Given the description of an element on the screen output the (x, y) to click on. 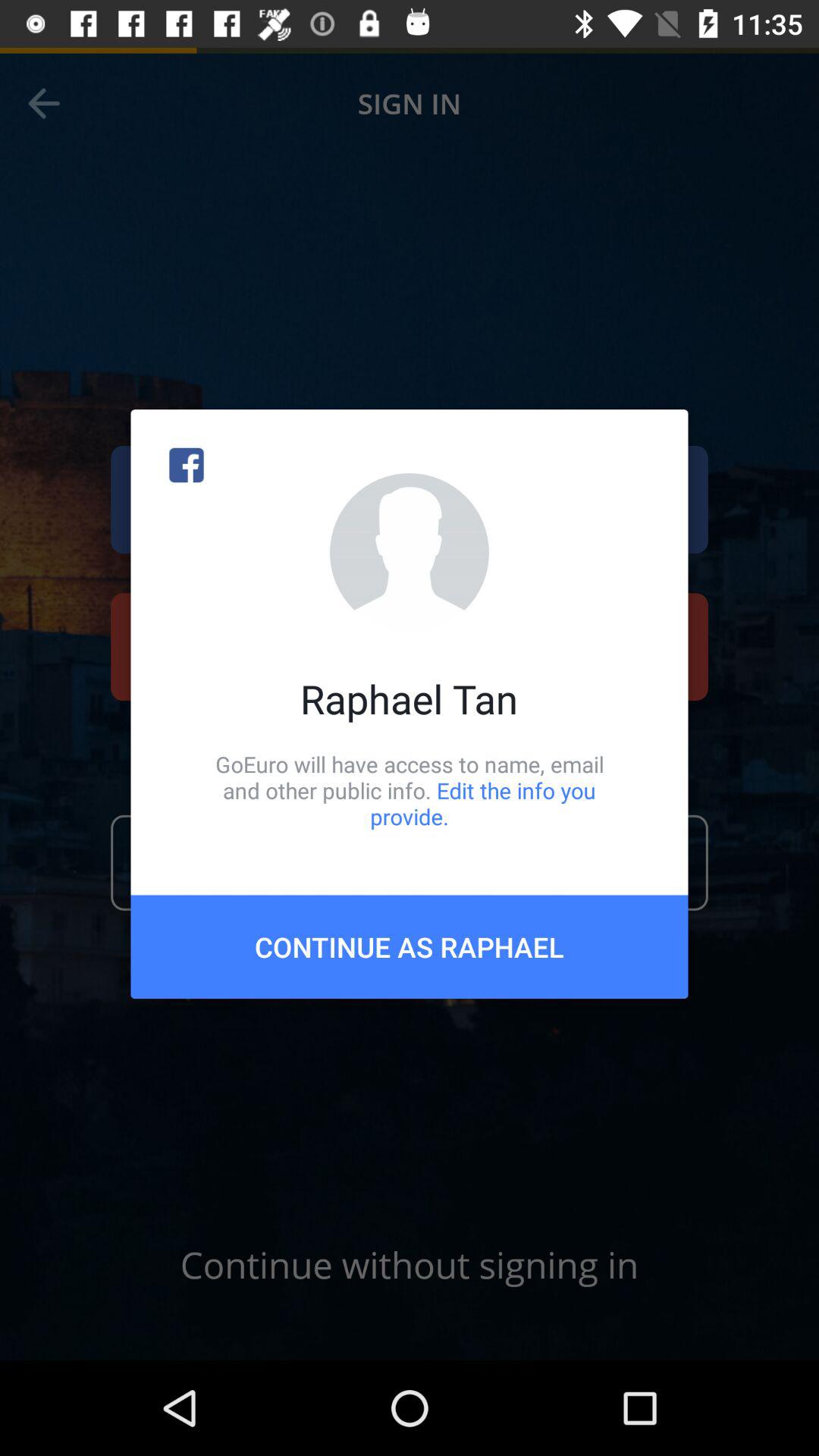
turn off the icon below raphael tan (409, 790)
